Given the description of an element on the screen output the (x, y) to click on. 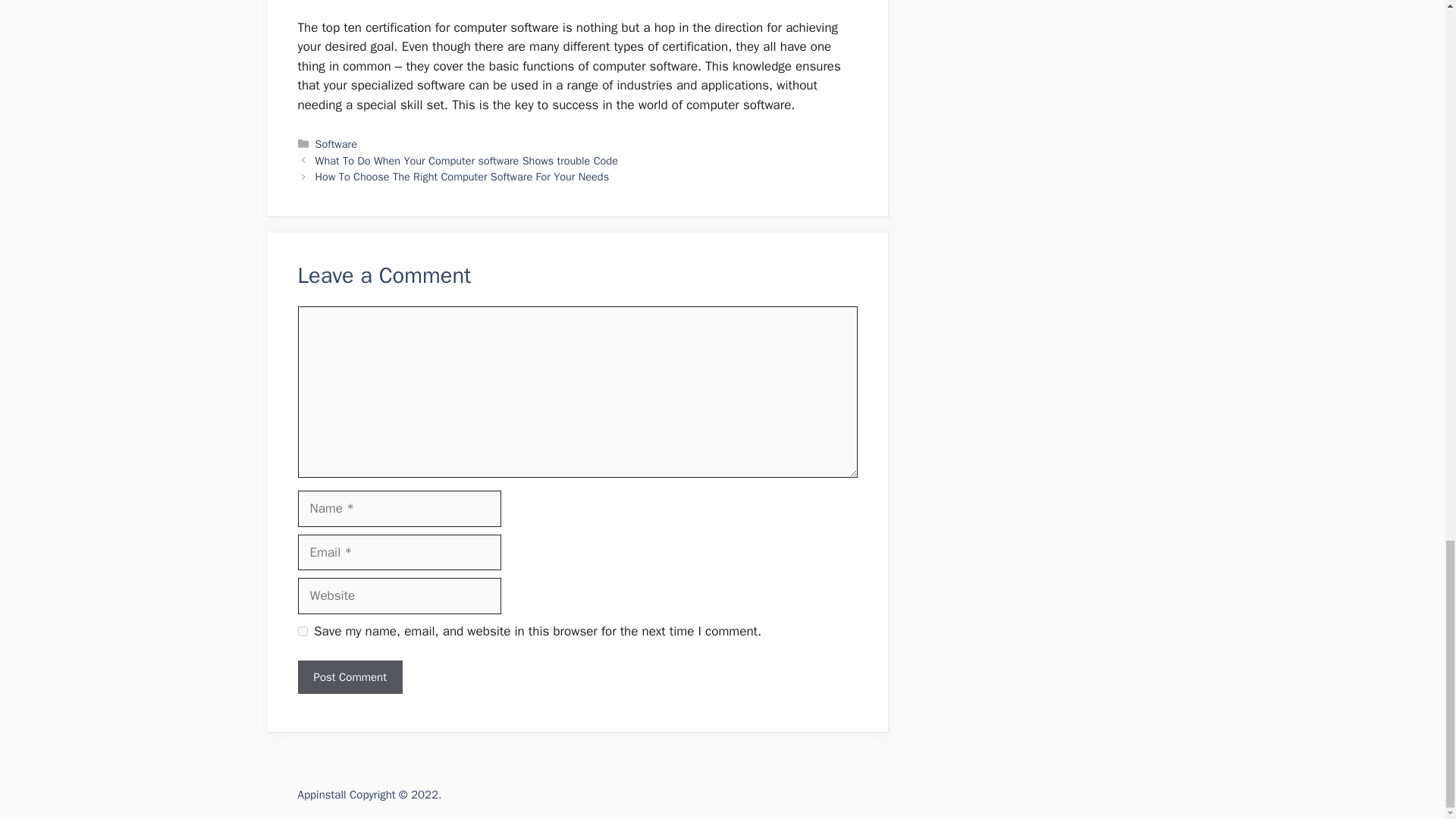
Software (335, 143)
Post Comment (349, 677)
Post Comment (349, 677)
What To Do When Your Computer software Shows trouble Code (466, 160)
yes (302, 631)
How To Choose The Right Computer Software For Your Needs (462, 176)
